Given the description of an element on the screen output the (x, y) to click on. 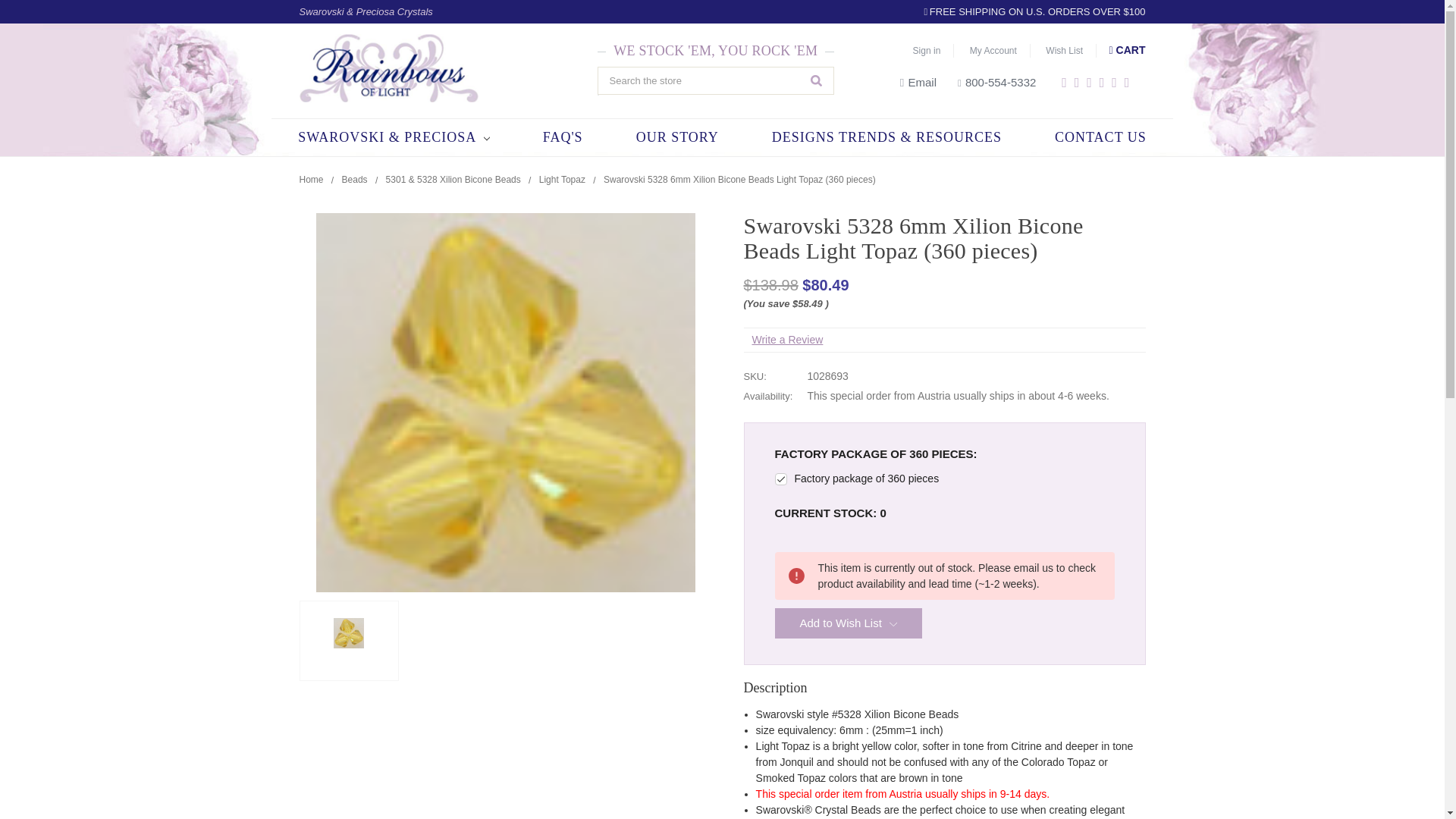
Write a Review (786, 339)
800-554-5332 (996, 82)
Beads (355, 179)
CART (1120, 50)
FAQ'S (563, 137)
Email (917, 82)
Home (310, 179)
OUR STORY (677, 137)
